Given the description of an element on the screen output the (x, y) to click on. 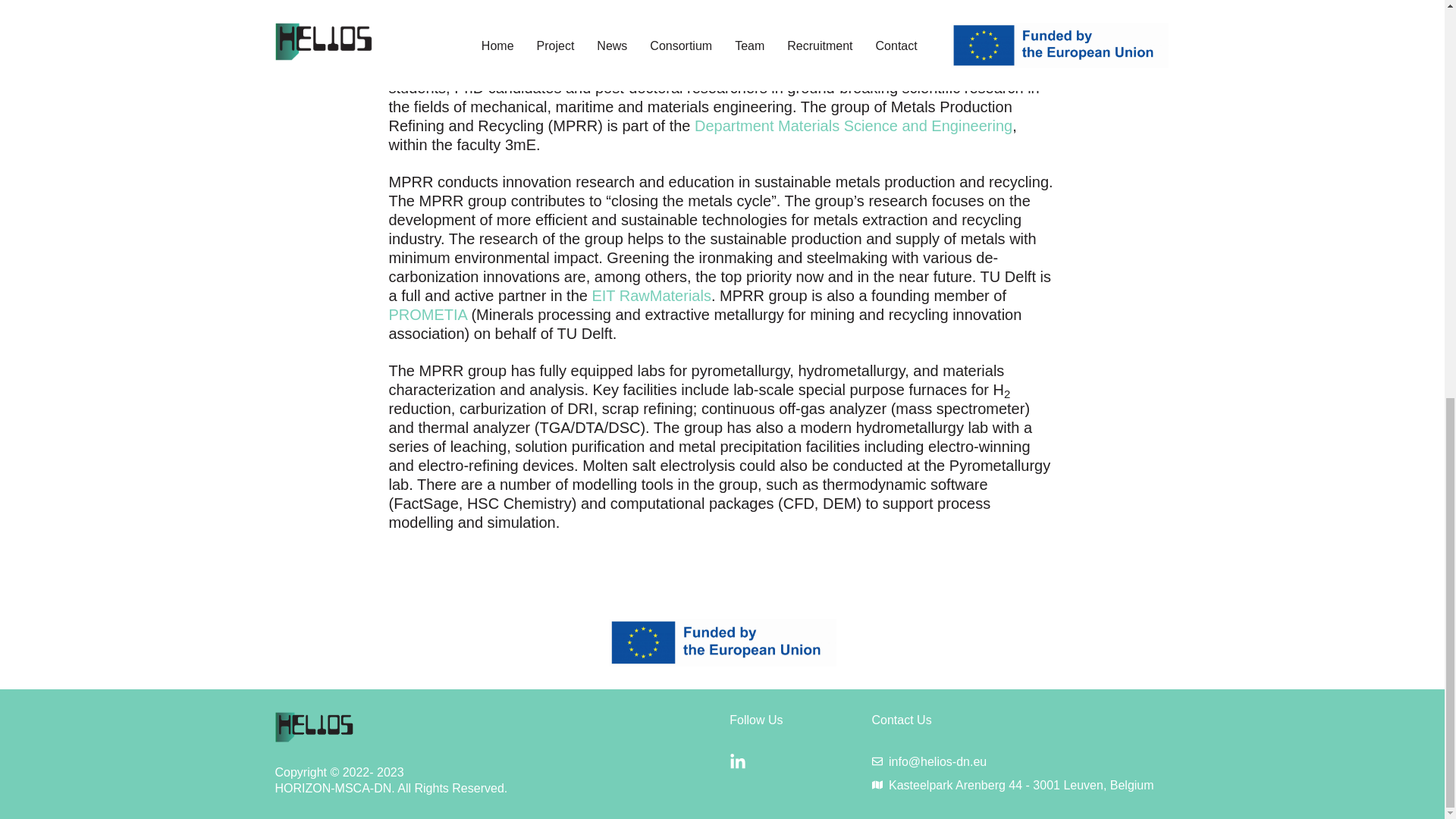
Department Materials Science and Engineering (852, 125)
EIT RawMaterials (650, 295)
PROMETIA (426, 314)
Kasteelpark Arenberg 44 - 3001 Leuven, Belgium (1013, 785)
